Given the description of an element on the screen output the (x, y) to click on. 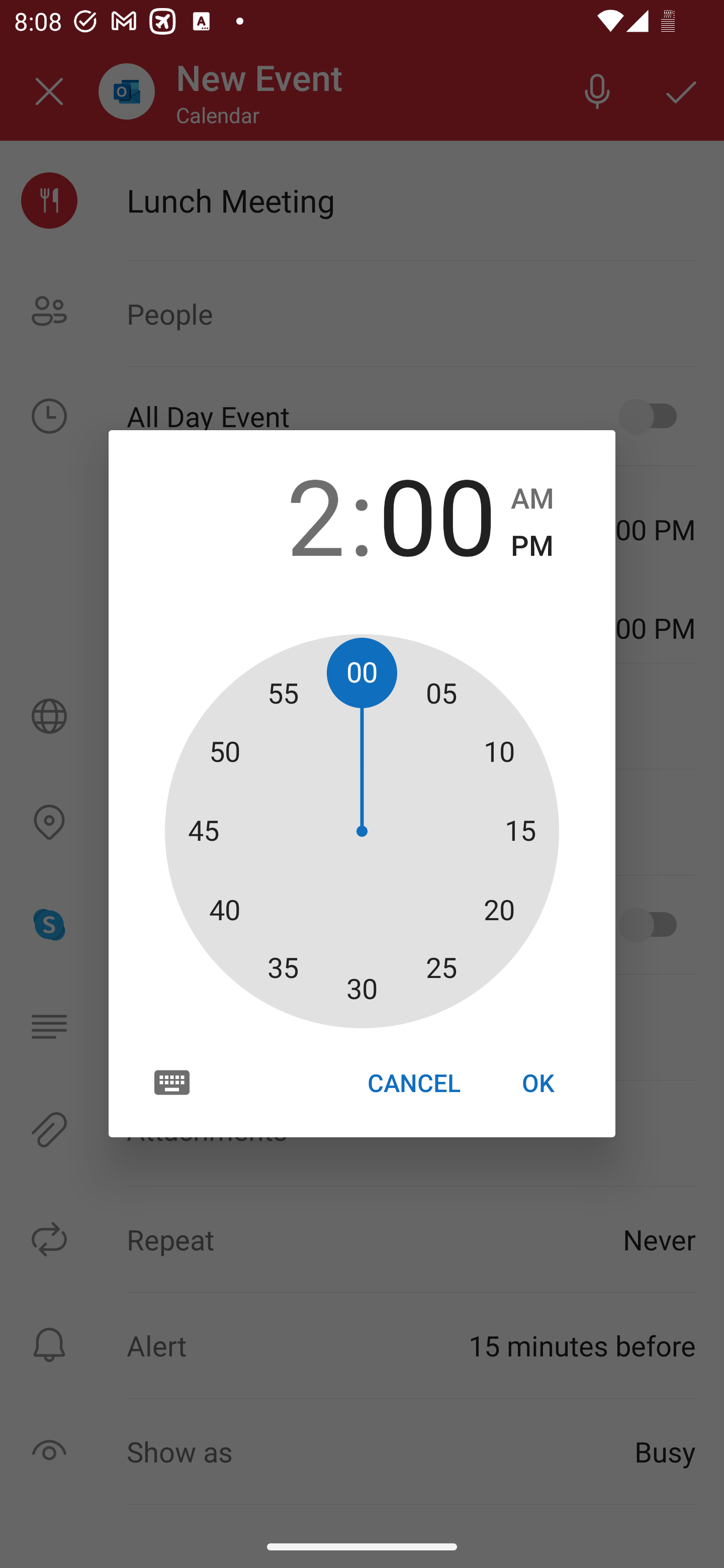
2 (285, 513)
00 (436, 513)
AM (532, 498)
PM (532, 546)
CANCEL (413, 1082)
OK (537, 1082)
Switch to text input mode for the time input. (171, 1081)
